Given the description of an element on the screen output the (x, y) to click on. 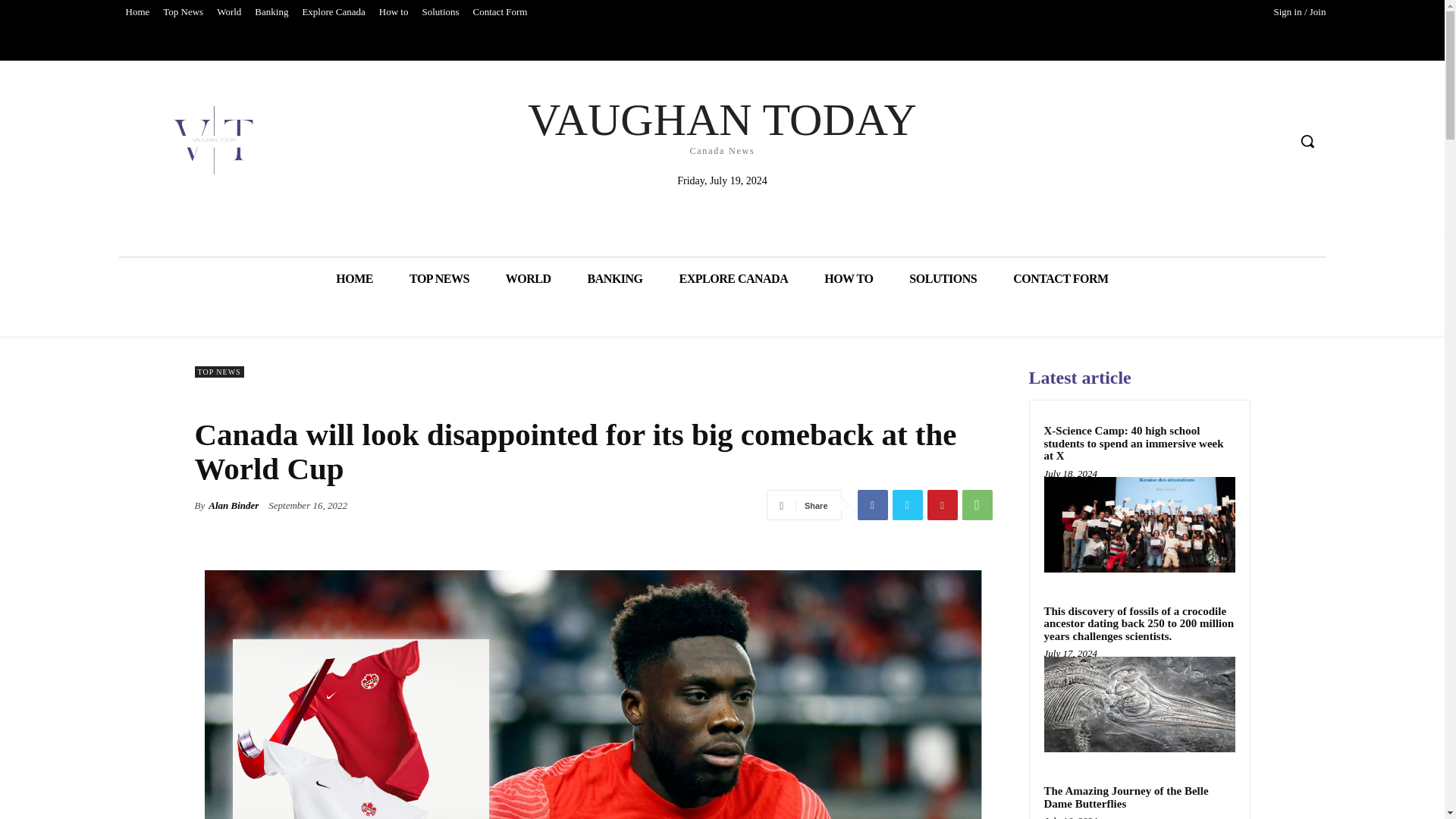
Banking (271, 12)
Contact Form (499, 12)
HOW TO (848, 278)
Facebook (871, 504)
WhatsApp (975, 504)
Solutions (439, 12)
How to (393, 12)
Explore Canada (333, 12)
Home (136, 12)
Pinterest (941, 504)
SOLUTIONS (942, 278)
EXPLORE CANADA (733, 278)
TOP NEWS (439, 278)
HOME (354, 278)
